Given the description of an element on the screen output the (x, y) to click on. 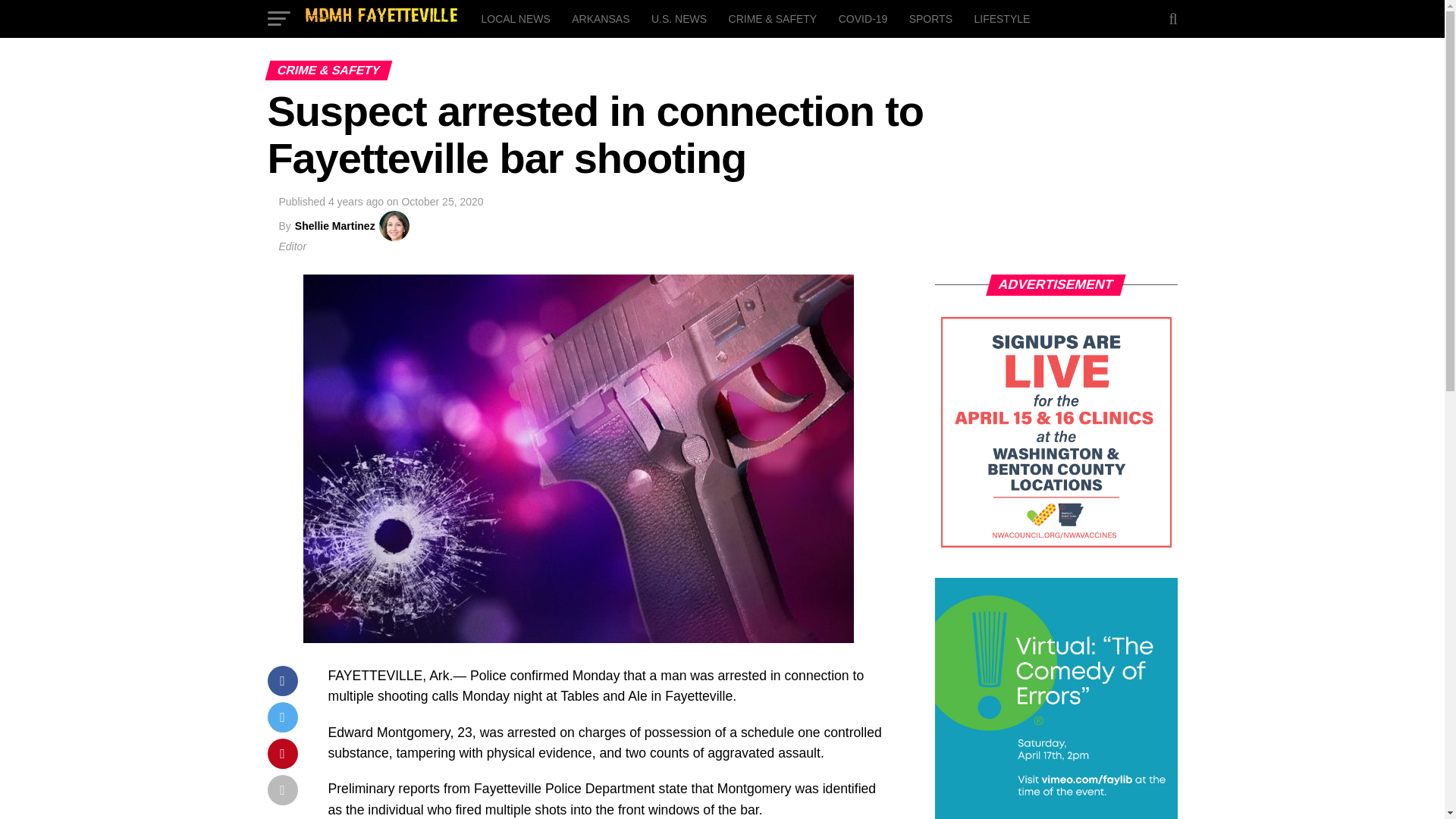
Advertisement (1055, 432)
ARKANSAS (600, 18)
Posts by Shellie Martinez (335, 225)
LOCAL NEWS (515, 18)
U.S. NEWS (679, 18)
COVID-19 (862, 18)
